Given the description of an element on the screen output the (x, y) to click on. 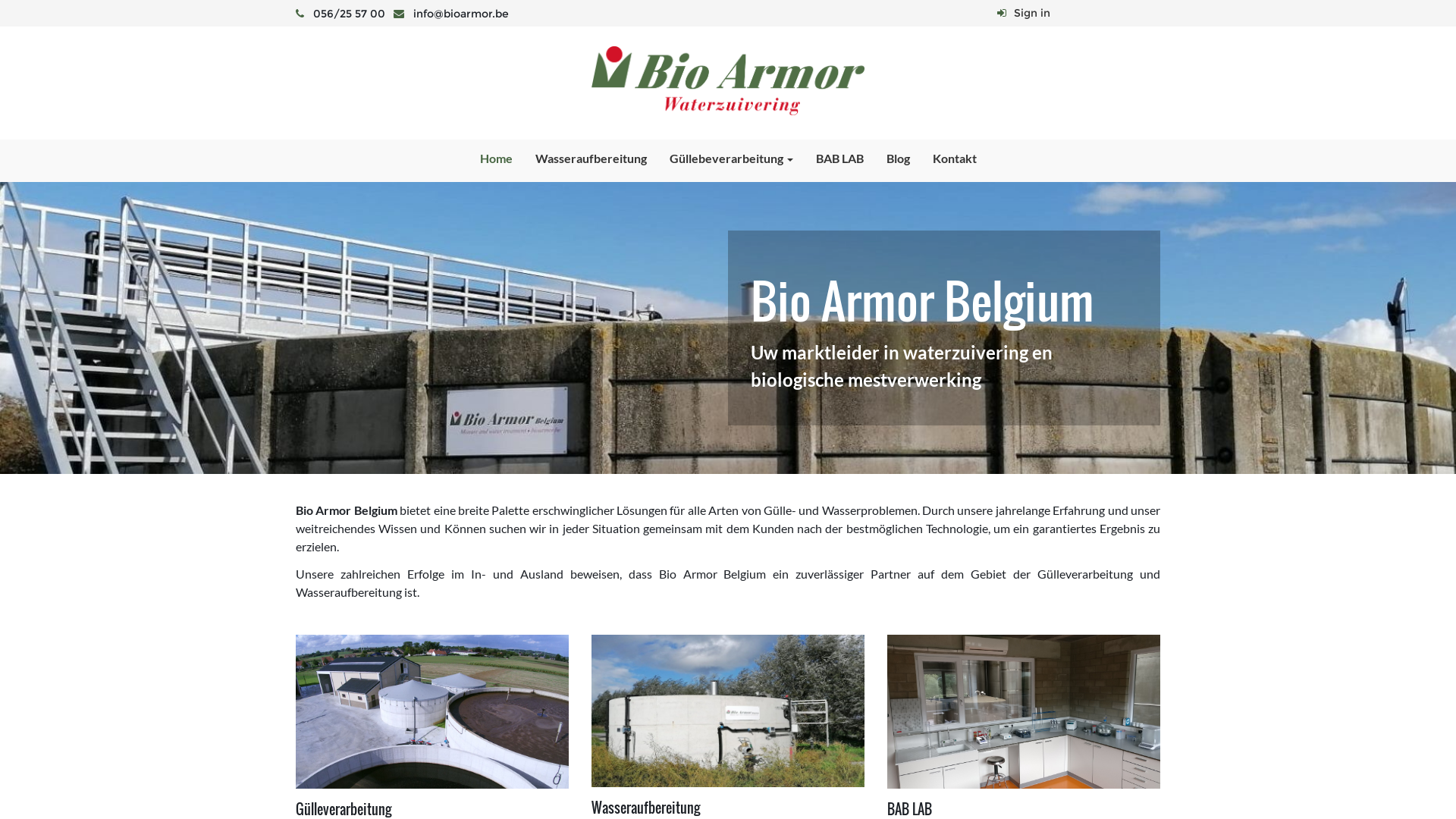
BAB LAB Element type: text (838, 158)
Kontakt Element type: text (953, 158)
Home Element type: text (496, 158)
Wasseraufbereitung Element type: text (590, 158)
Blog Element type: text (898, 158)
